Given the description of an element on the screen output the (x, y) to click on. 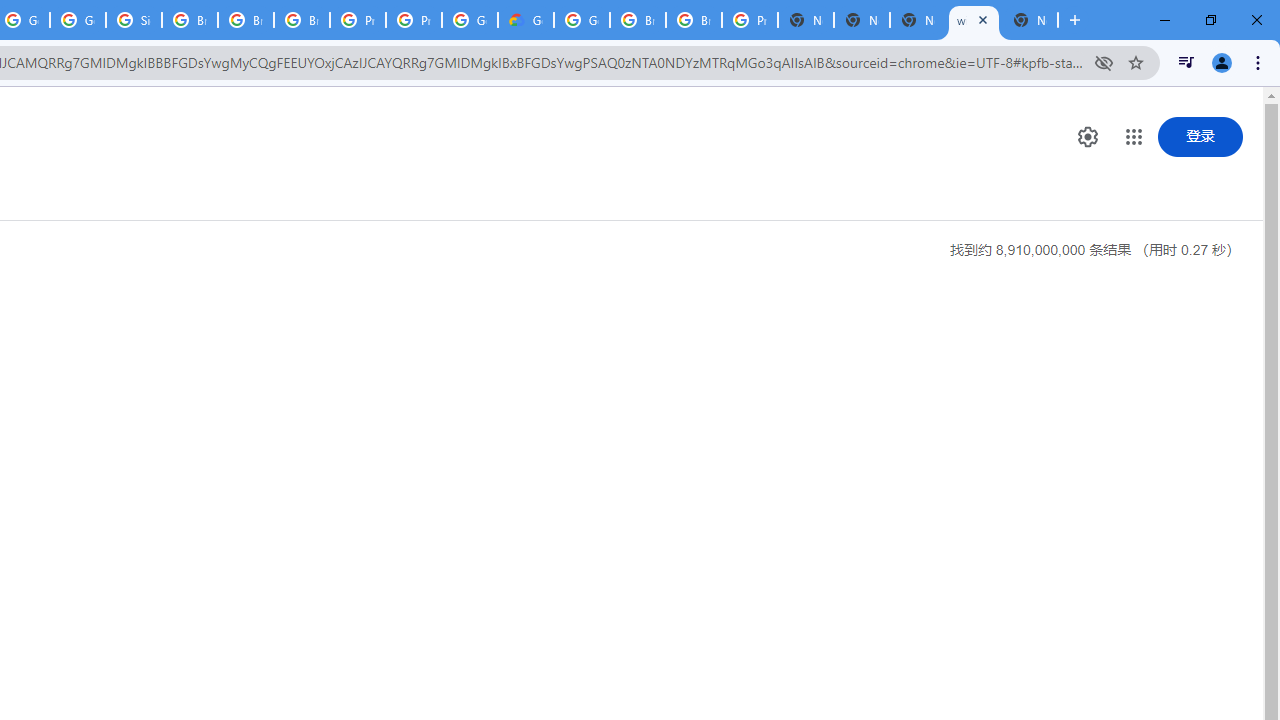
Sign in - Google Accounts (134, 20)
Google Cloud Platform (469, 20)
Browse Chrome as a guest - Computer - Google Chrome Help (301, 20)
Google Cloud Estimate Summary (525, 20)
Browse Chrome as a guest - Computer - Google Chrome Help (245, 20)
Google Cloud Platform (582, 20)
New Tab (806, 20)
Browse Chrome as a guest - Computer - Google Chrome Help (189, 20)
